Given the description of an element on the screen output the (x, y) to click on. 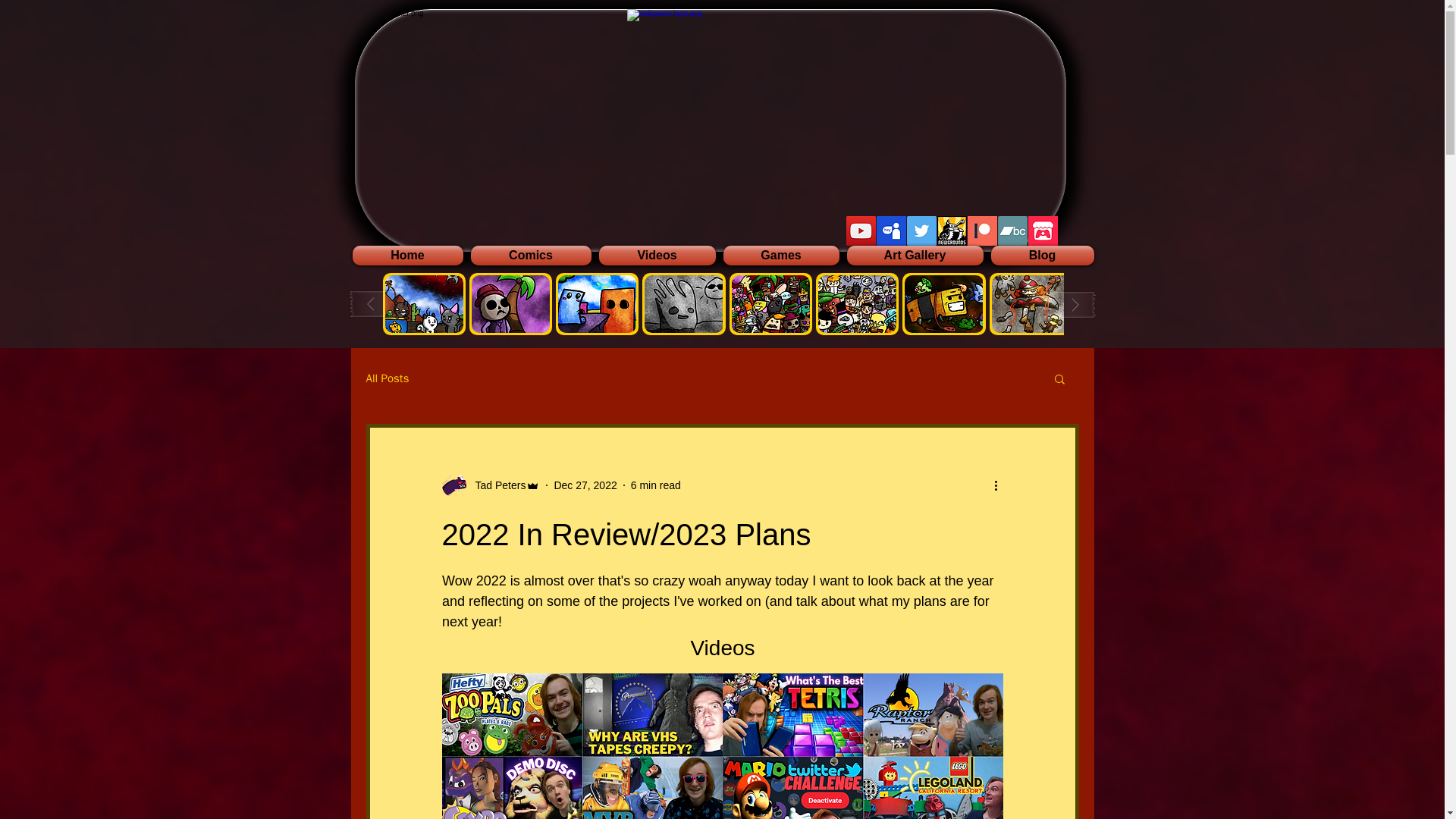
Dec 27, 2022 (584, 485)
6 min read (655, 485)
Games (781, 255)
Blog (1040, 255)
Videos (656, 255)
Comics (531, 255)
Tad Peters (495, 485)
Home (408, 255)
Art Gallery (915, 255)
